Given the description of an element on the screen output the (x, y) to click on. 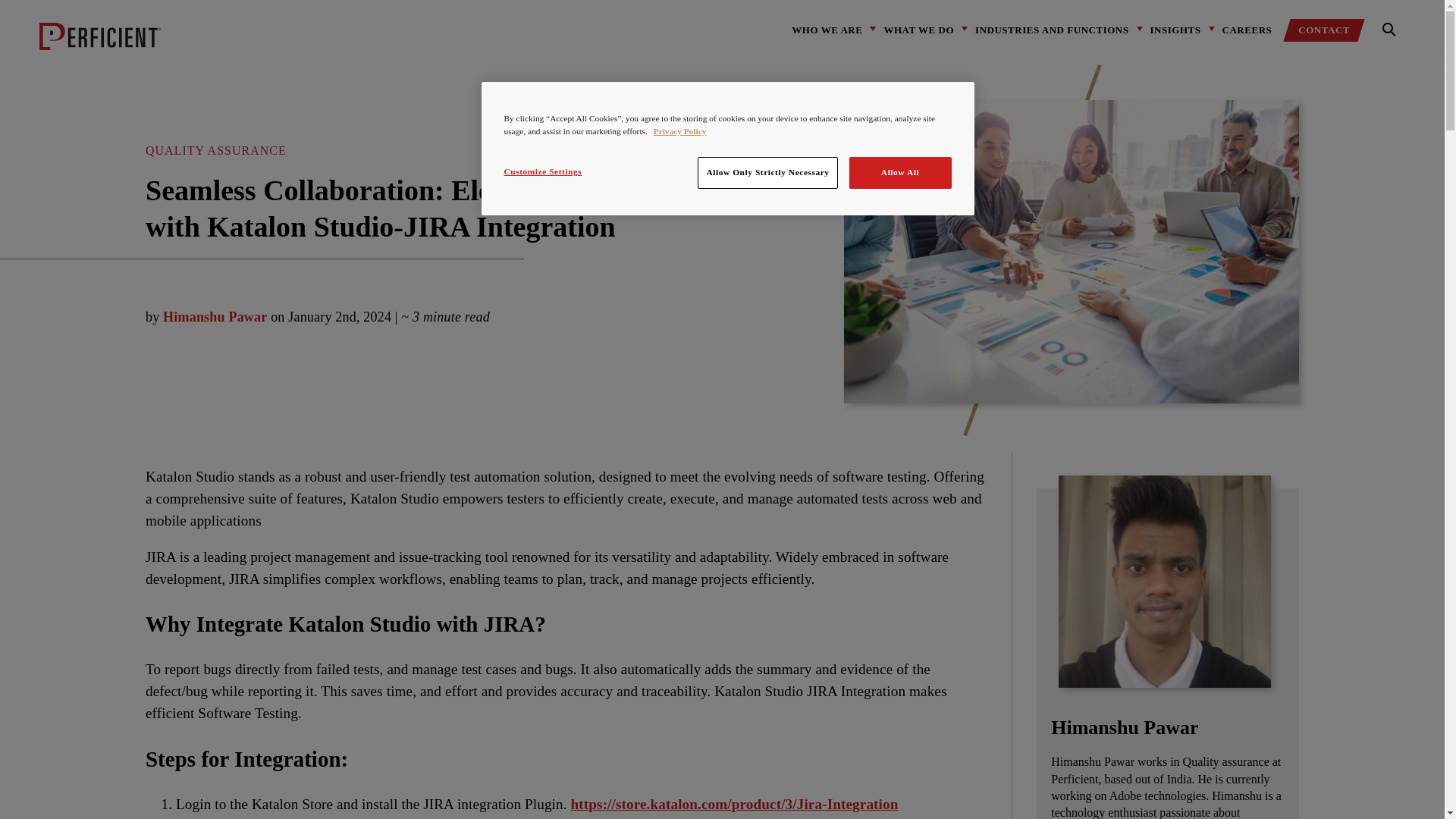
CAREERS (1247, 29)
Posts by Himanshu Pawar (214, 316)
QUALITY ASSURANCE (215, 150)
Himanshu Pawar (214, 316)
INDUSTRIES AND FUNCTIONS (1051, 29)
WHAT WE DO (918, 29)
INSIGHTS (1175, 29)
CONTACT (1324, 29)
WHO WE ARE (826, 29)
